Given the description of an element on the screen output the (x, y) to click on. 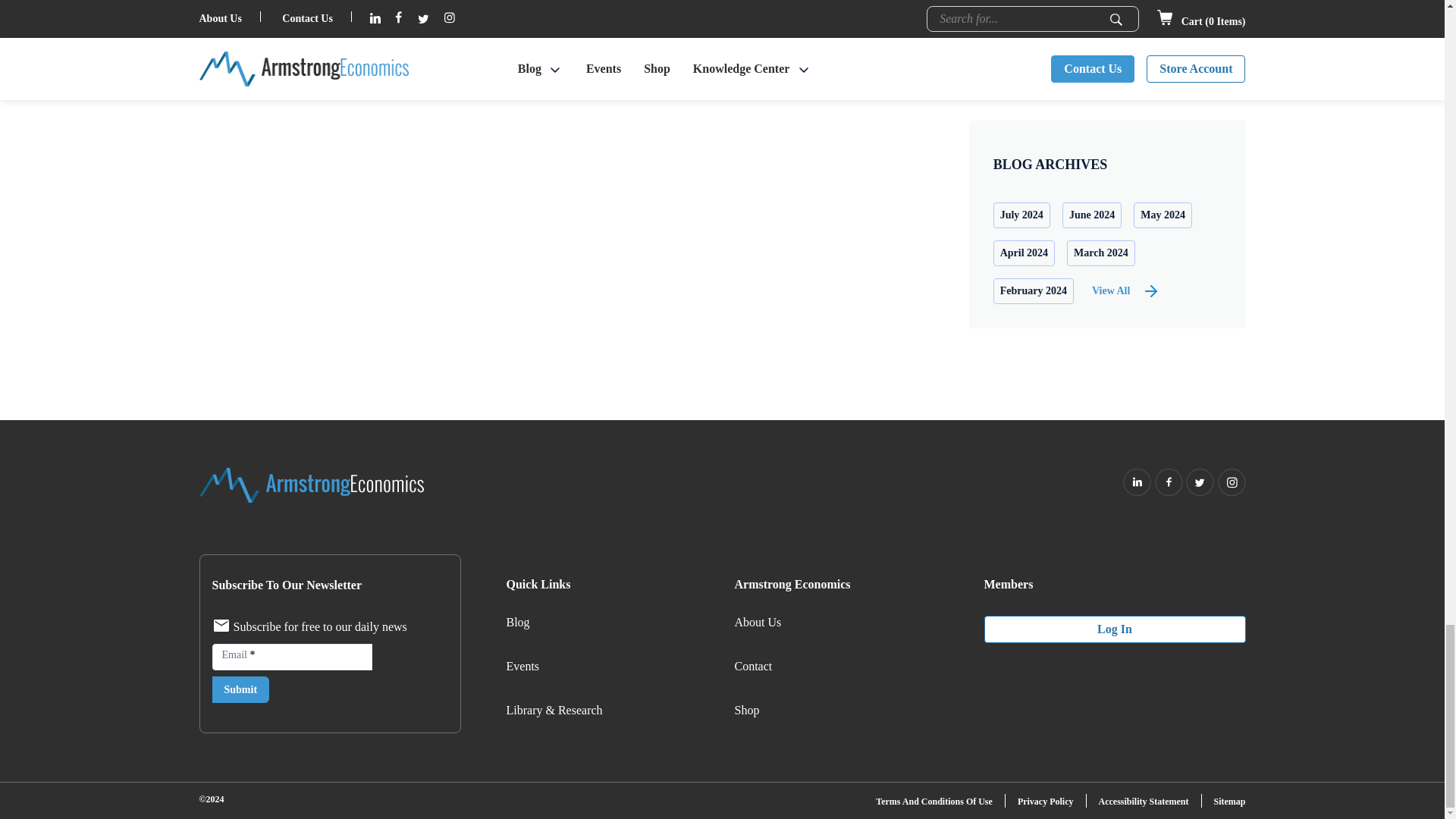
Submit (240, 689)
